Given the description of an element on the screen output the (x, y) to click on. 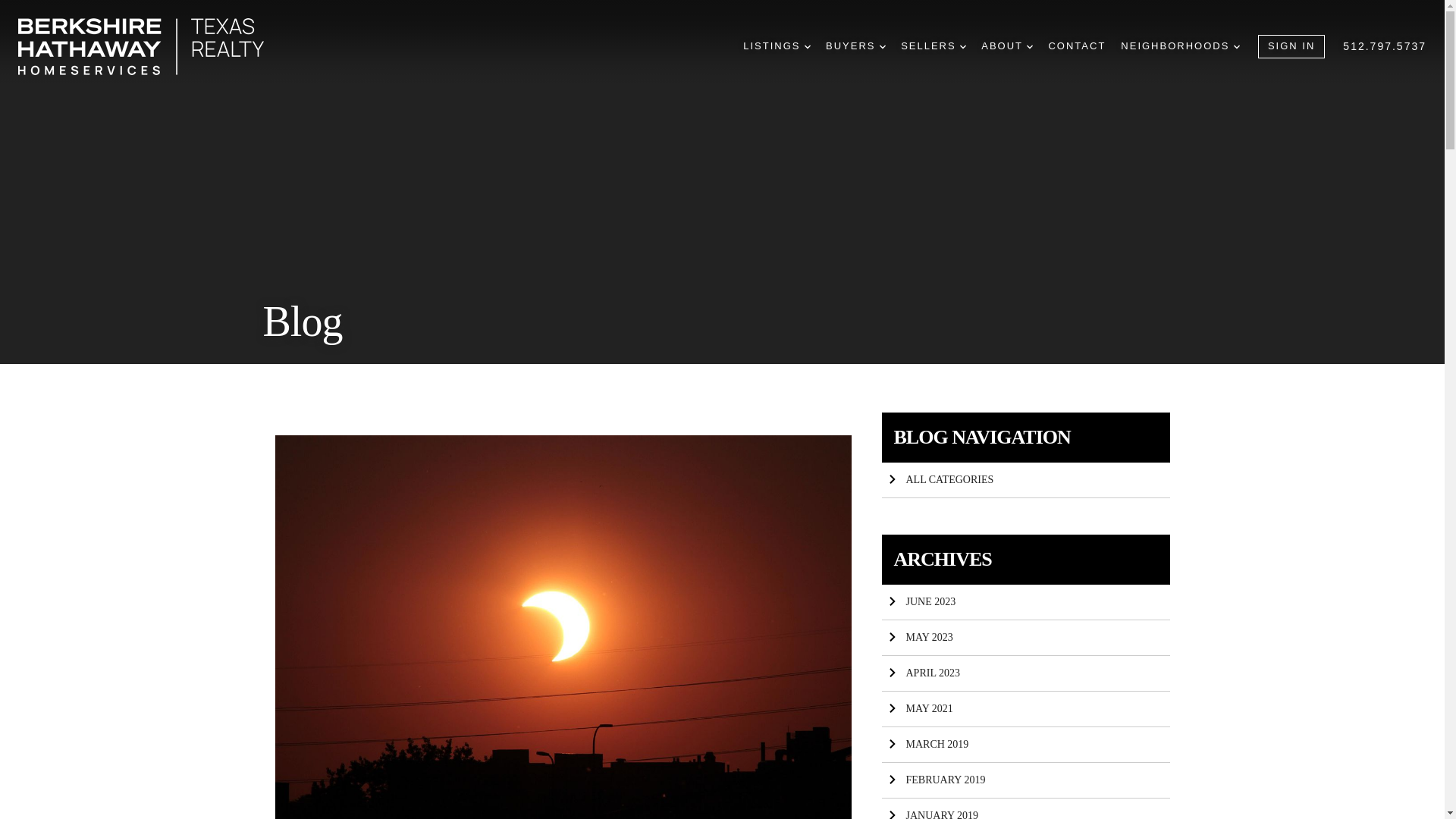
DROPDOWN ARROW (1236, 46)
SELLERS DROPDOWN ARROW (933, 46)
NEIGHBORHOODS DROPDOWN ARROW (1180, 46)
ABOUT DROPDOWN ARROW (1006, 46)
DROPDOWN ARROW (1029, 46)
LISTINGS DROPDOWN ARROW (776, 46)
BUYERS DROPDOWN ARROW (855, 46)
CONTACT (1076, 46)
DROPDOWN ARROW (962, 46)
DROPDOWN ARROW (807, 46)
